Given the description of an element on the screen output the (x, y) to click on. 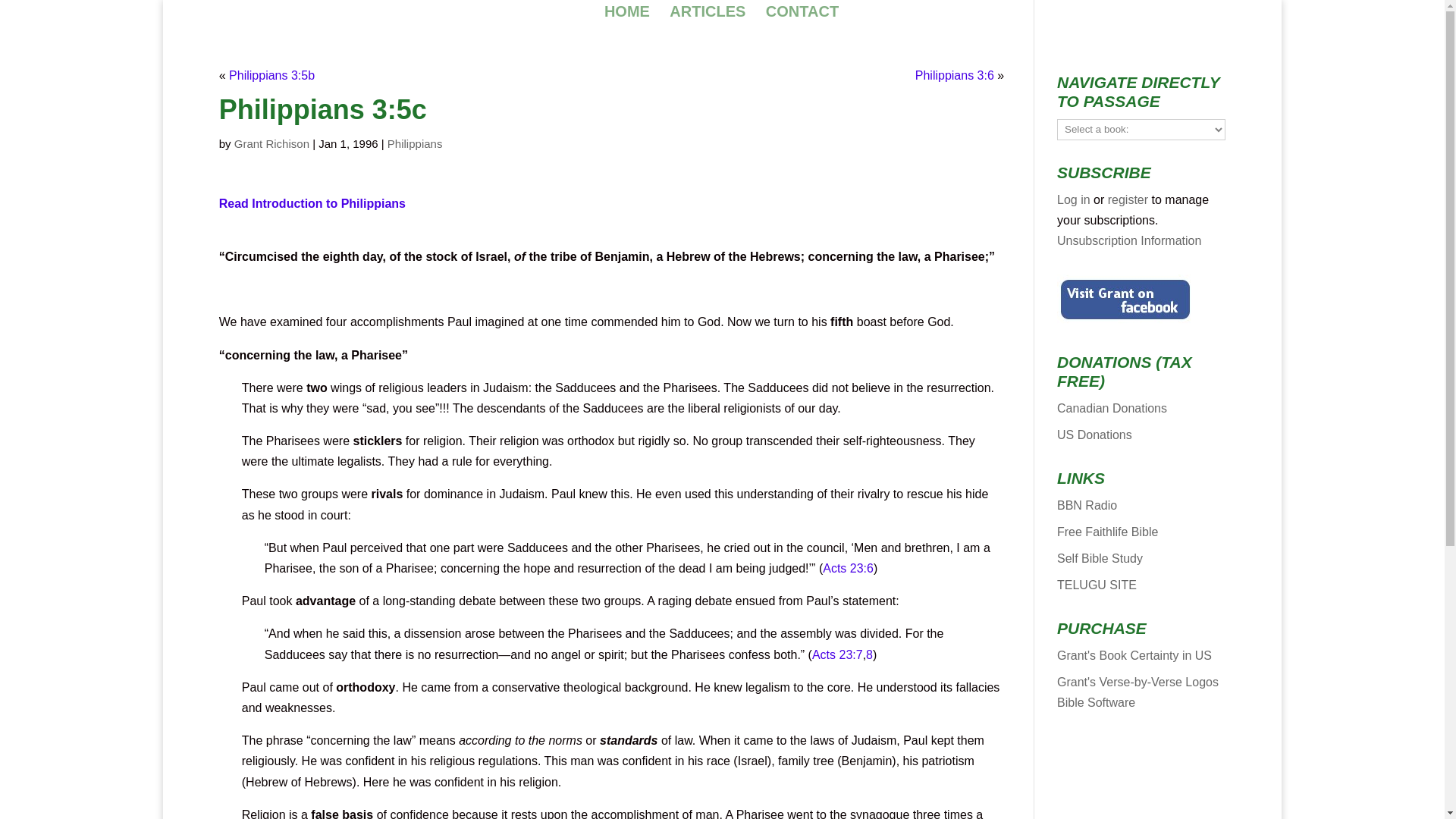
Log in (1073, 199)
Acts 23:6 (847, 567)
Visit Grant on FaceBook (1125, 298)
Telugu verse-by-verse commentary (1097, 584)
Philippians (414, 143)
Posts by Grant Richison (271, 143)
Grant's Verse-by-Verse Logos Bible Software (1137, 692)
register (1128, 199)
Acts 23:7 (837, 654)
HOME (626, 12)
